Given the description of an element on the screen output the (x, y) to click on. 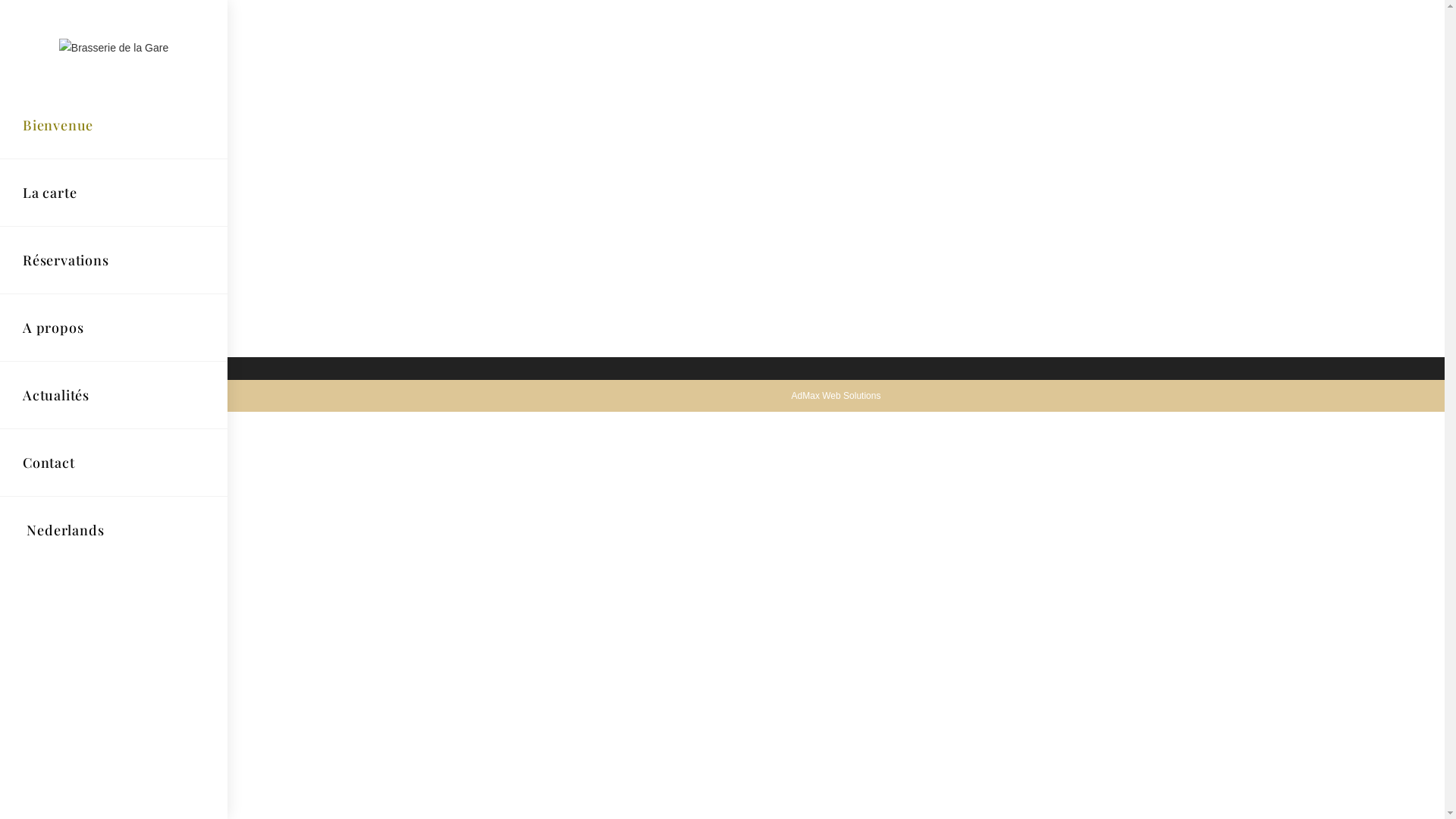
La carte Element type: text (113, 192)
Nederlands Element type: text (113, 529)
Bienvenue Element type: text (113, 124)
A propos Element type: text (113, 327)
AdMax Web Solutions Element type: text (836, 395)
Contact Element type: text (113, 462)
